Given the description of an element on the screen output the (x, y) to click on. 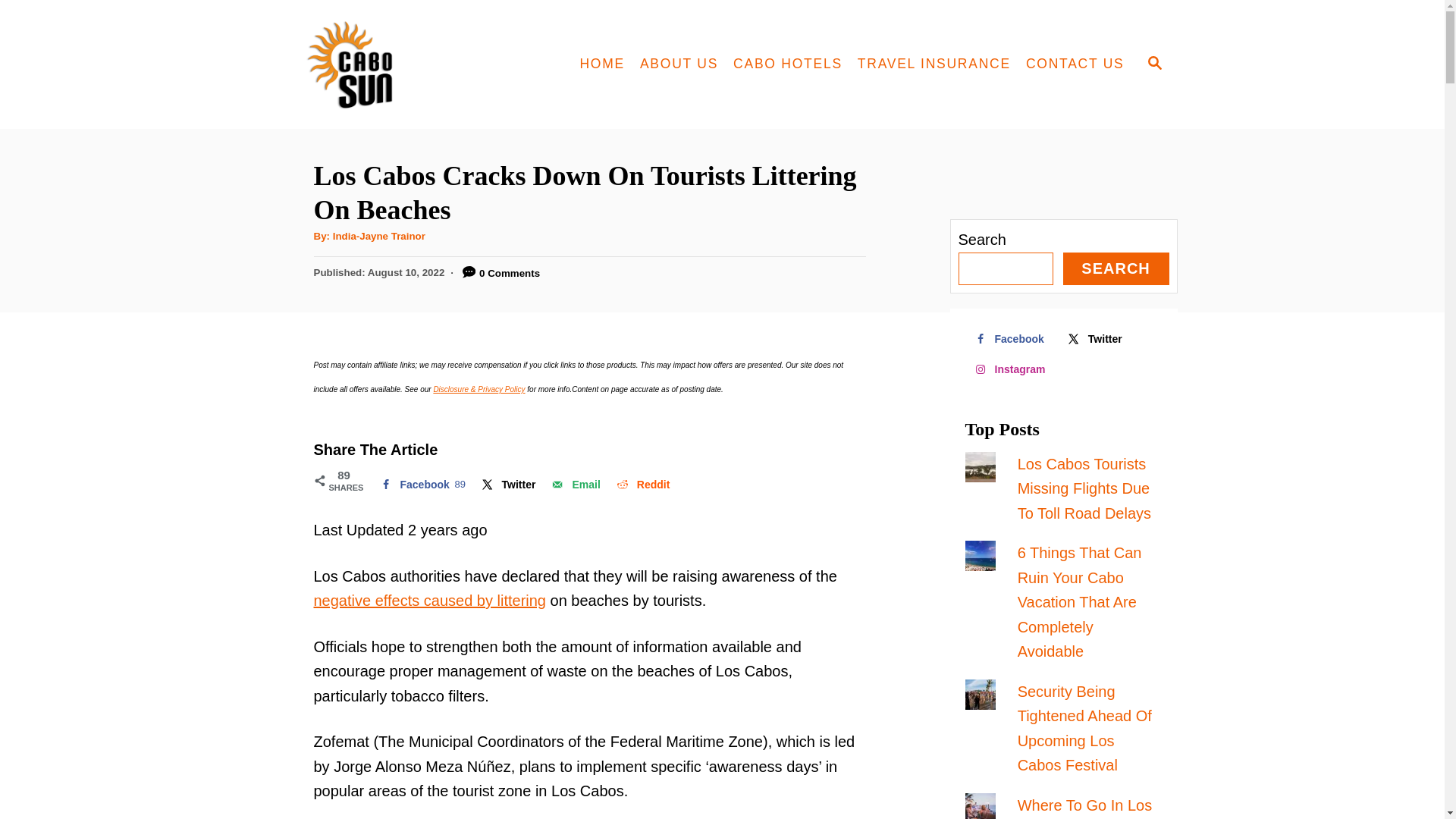
Instagram (1011, 368)
CONTACT US (1074, 64)
Reddit (642, 484)
SEARCH (1115, 268)
Los Cabos Tourists Missing Flights Due To Toll Road Delays (1084, 488)
Follow on Facebook (1010, 338)
Email (574, 484)
ABOUT US (420, 484)
Share on X (678, 64)
Send over email (507, 484)
negative effects caused by littering (574, 484)
Follow on Instagram (430, 600)
Share on Reddit (1011, 368)
Follow on X (642, 484)
